Given the description of an element on the screen output the (x, y) to click on. 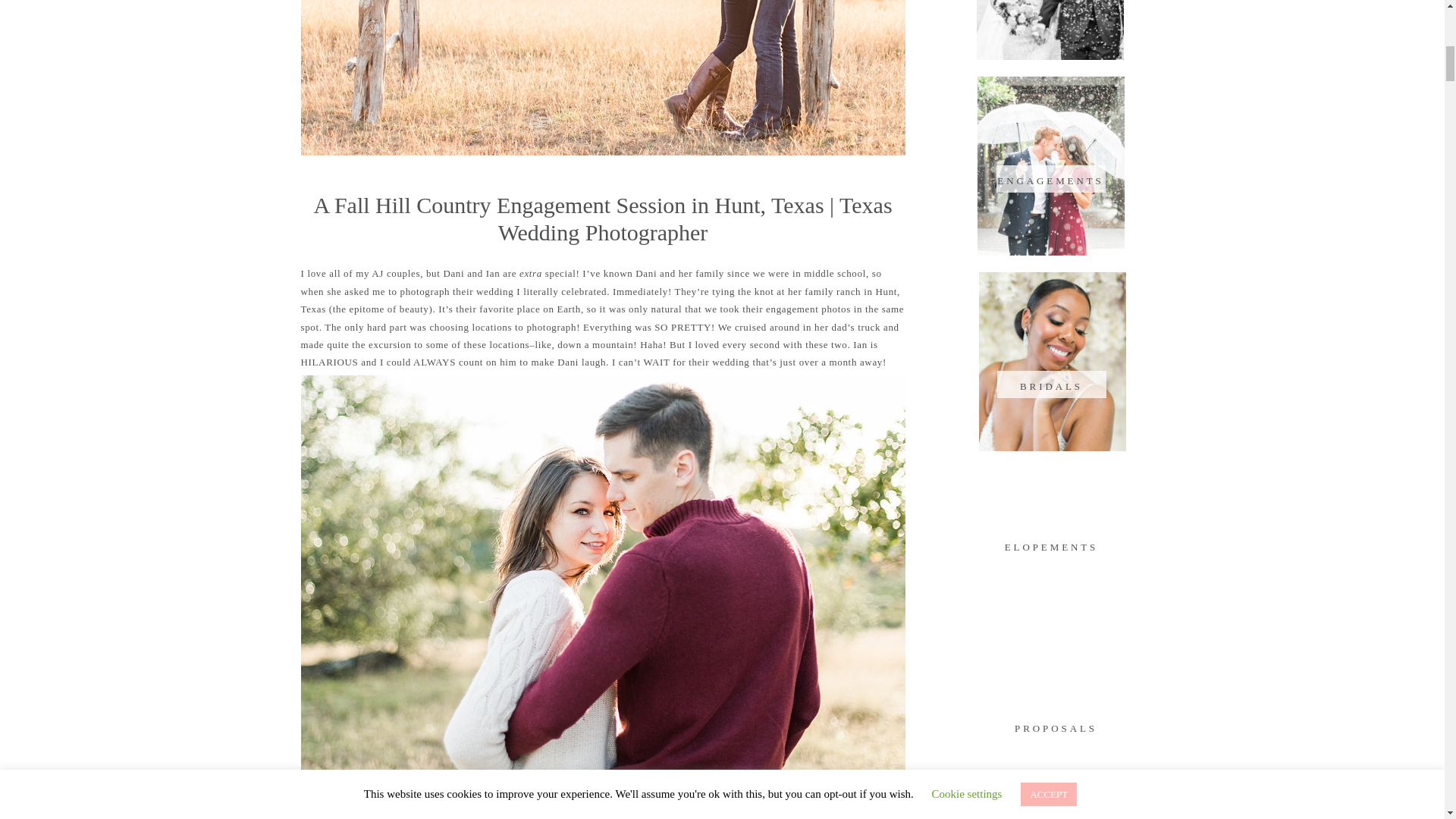
ELOPEMENTS (1051, 545)
PROPOSALS (1056, 726)
ENGAGEMENTS (1049, 178)
BRIDALS (1051, 384)
